Given the description of an element on the screen output the (x, y) to click on. 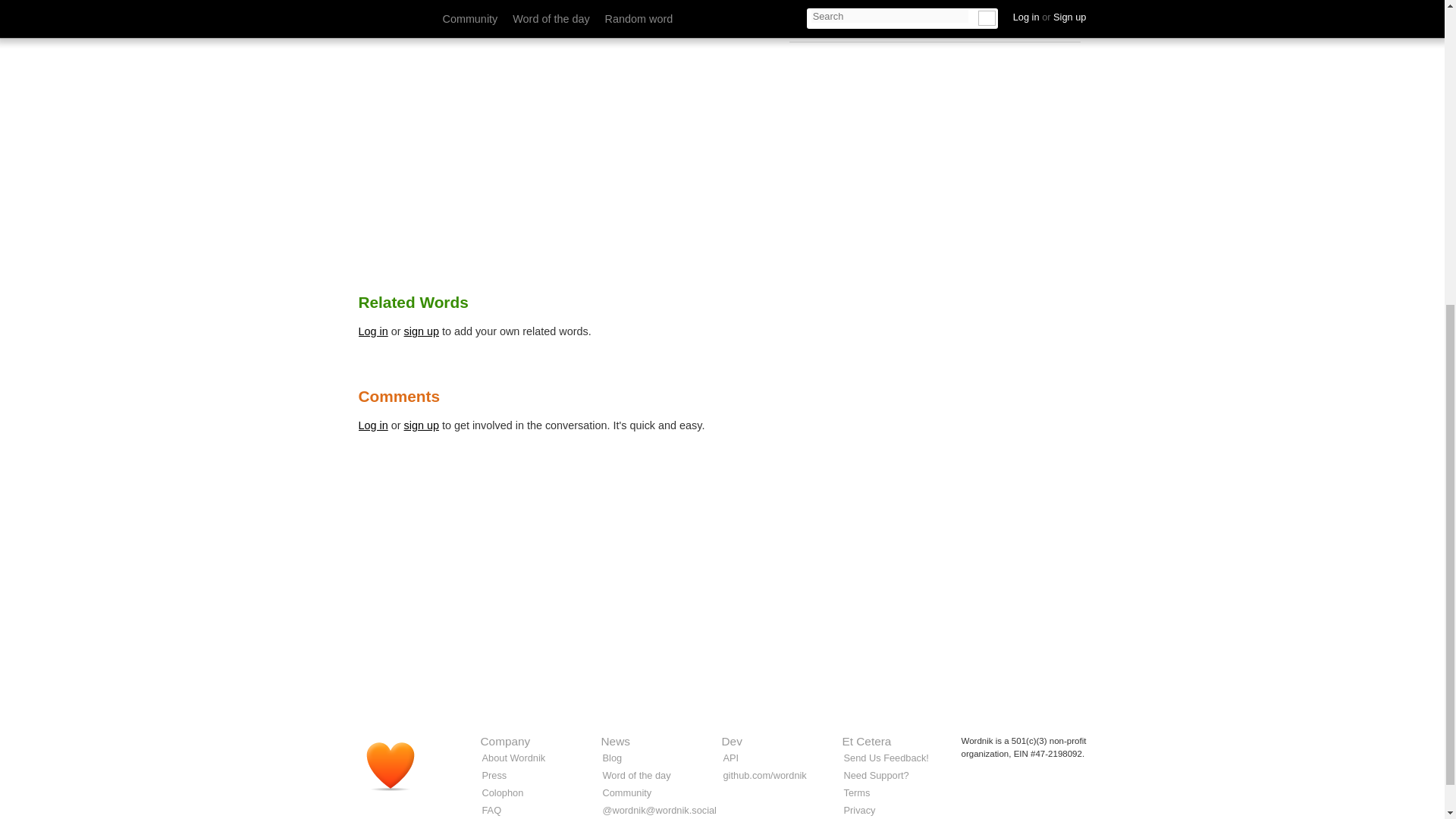
FAQ (491, 809)
Press (493, 775)
Log in (372, 331)
Company (505, 740)
Press (493, 775)
News (613, 740)
Word of the day (635, 775)
Blog (611, 757)
News (613, 740)
FAQ (491, 809)
